Given the description of an element on the screen output the (x, y) to click on. 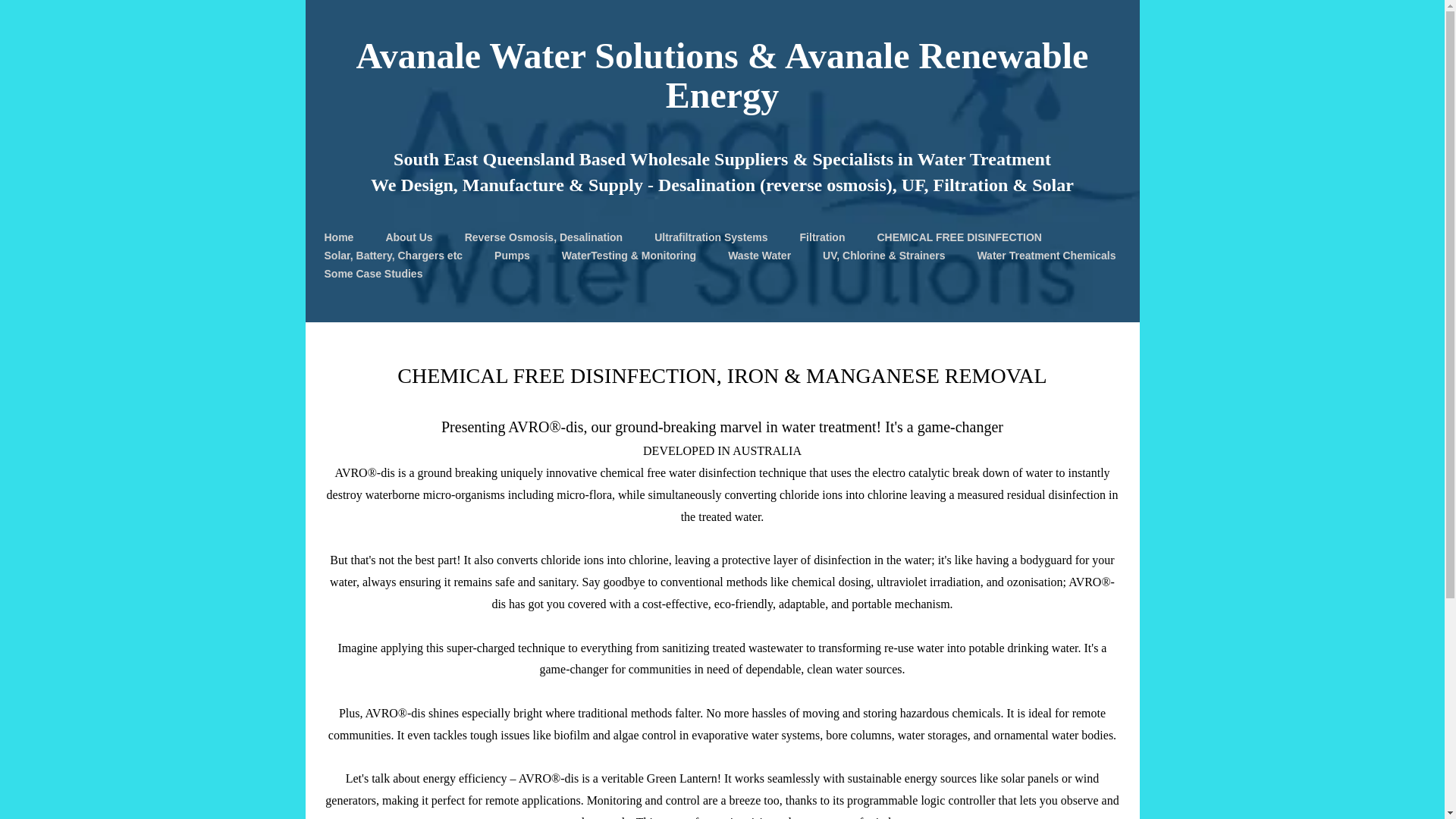
CHEMICAL FREE DISINFECTION (959, 237)
Home (338, 237)
About Us (408, 237)
Filtration (822, 237)
Solar, Battery, Chargers etc (393, 255)
Reverse Osmosis, Desalination (543, 237)
Ultrafiltration Systems (710, 237)
Pumps (512, 255)
